Given the description of an element on the screen output the (x, y) to click on. 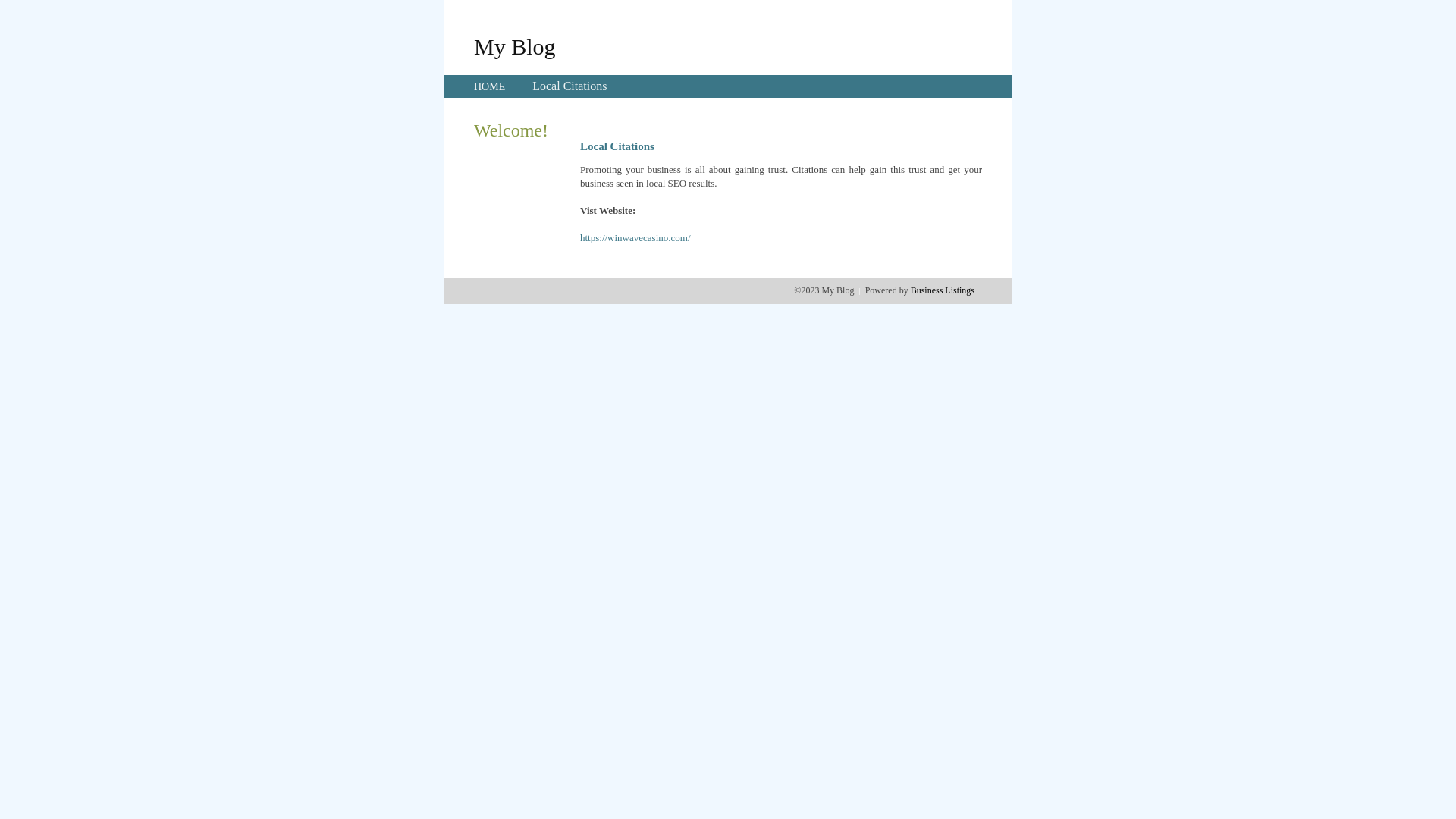
https://winwavecasino.com/ Element type: text (635, 237)
Business Listings Element type: text (942, 290)
My Blog Element type: text (514, 46)
Local Citations Element type: text (569, 85)
HOME Element type: text (489, 86)
